Given the description of an element on the screen output the (x, y) to click on. 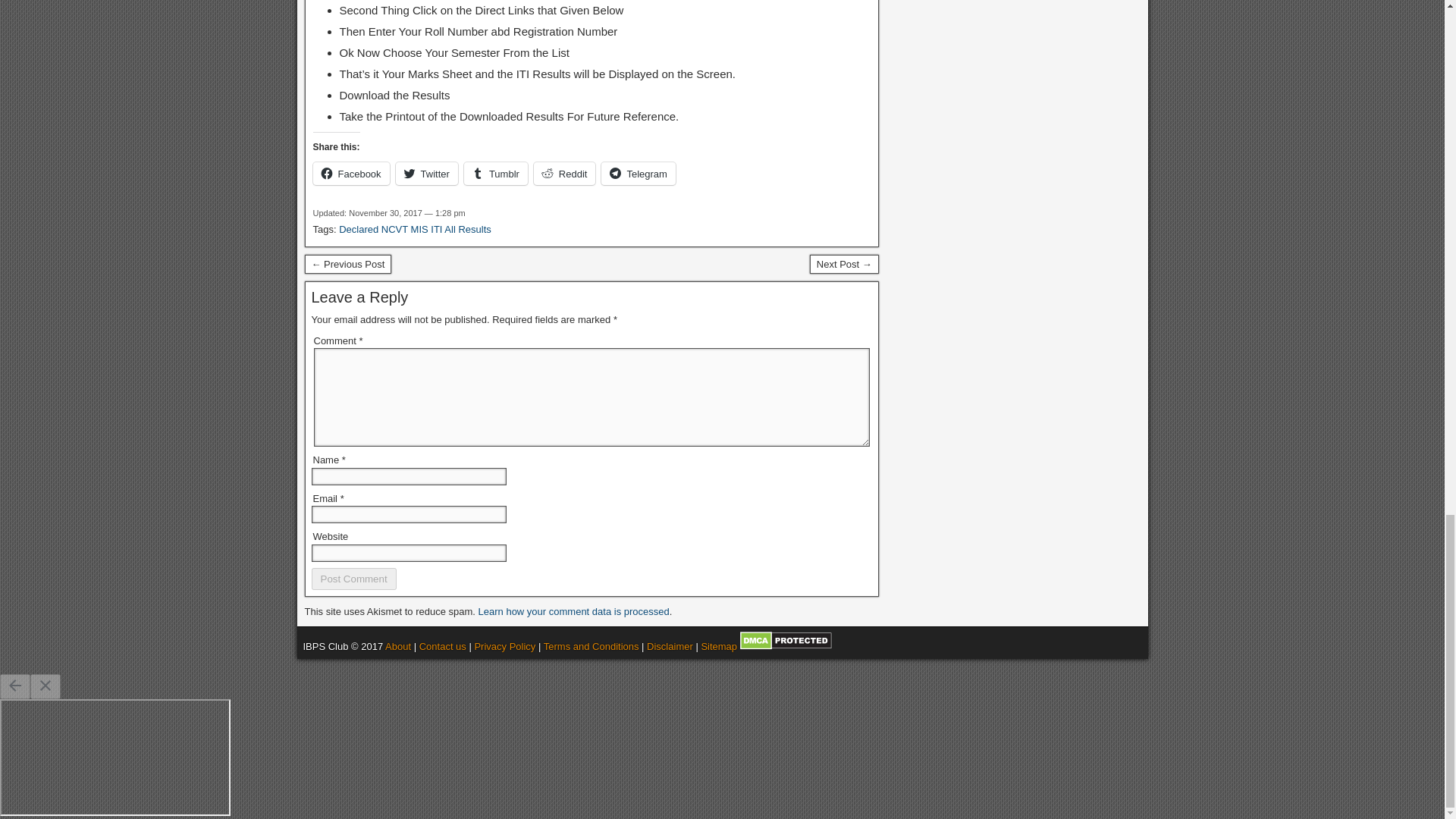
Click to share on Twitter (427, 173)
Disclaimer (669, 645)
Tumblr (495, 173)
Post Comment (353, 578)
Declared NCVT MIS ITI All Results (415, 229)
Telegram (638, 173)
Facebook (350, 173)
Contact us (442, 645)
Privacy Policy (504, 645)
Twitter (427, 173)
